Given the description of an element on the screen output the (x, y) to click on. 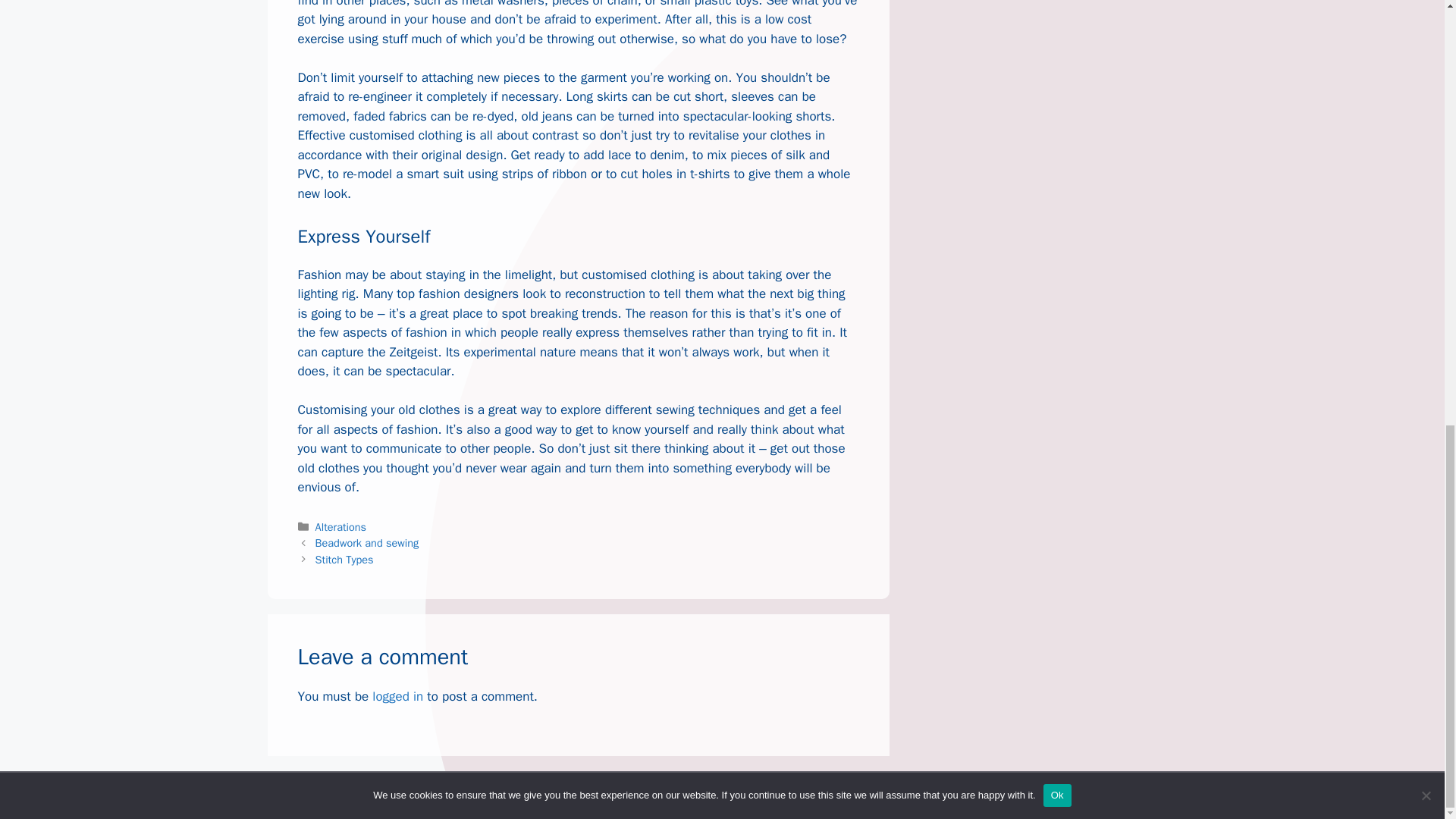
Terms and Conditions (1092, 794)
Alterations (340, 526)
logged in (397, 696)
Stitch Types (344, 559)
Beadwork and sewing (367, 542)
Privacy Policy (990, 794)
